Given the description of an element on the screen output the (x, y) to click on. 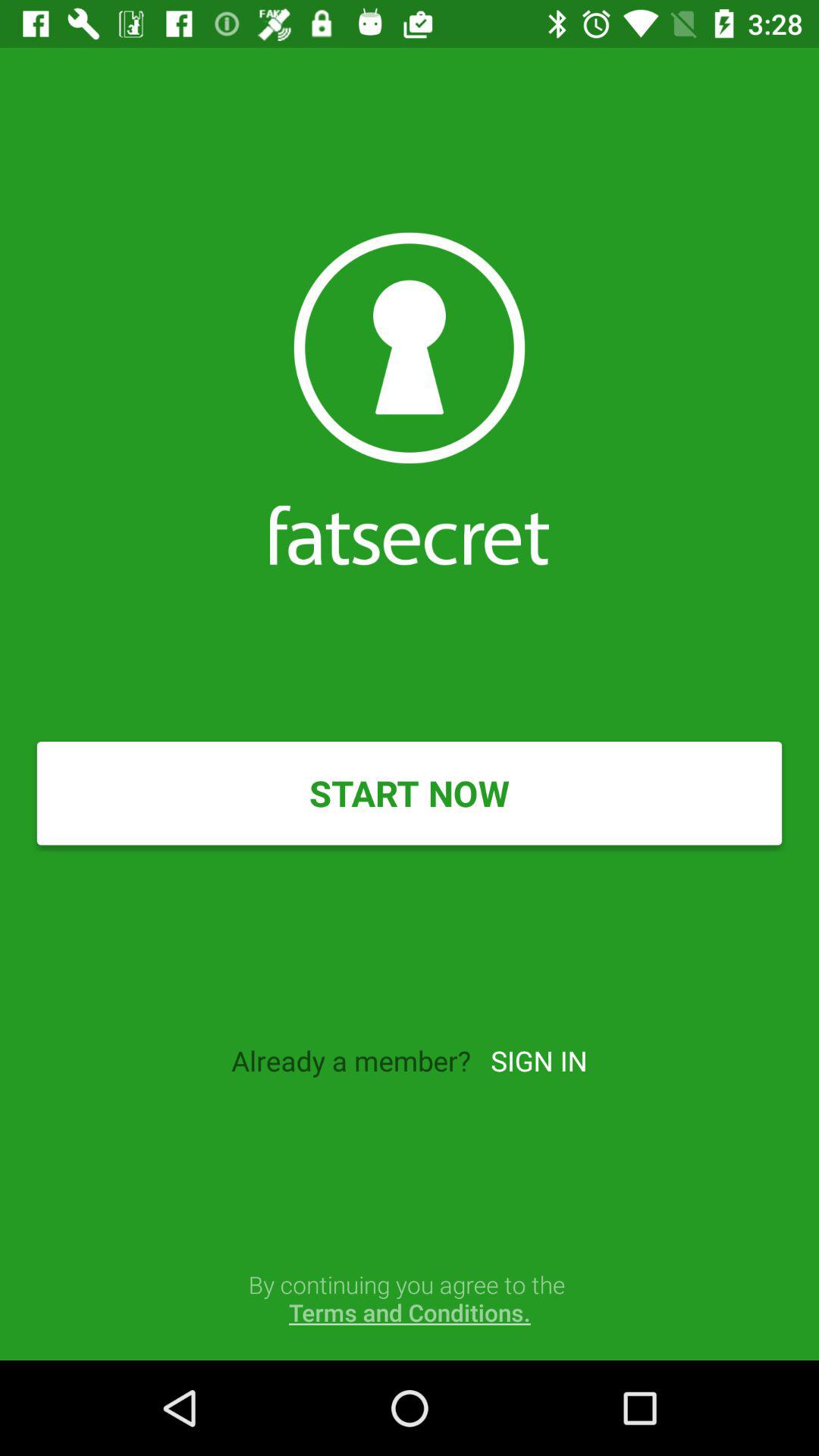
choose the item below already a member? icon (409, 1298)
